Given the description of an element on the screen output the (x, y) to click on. 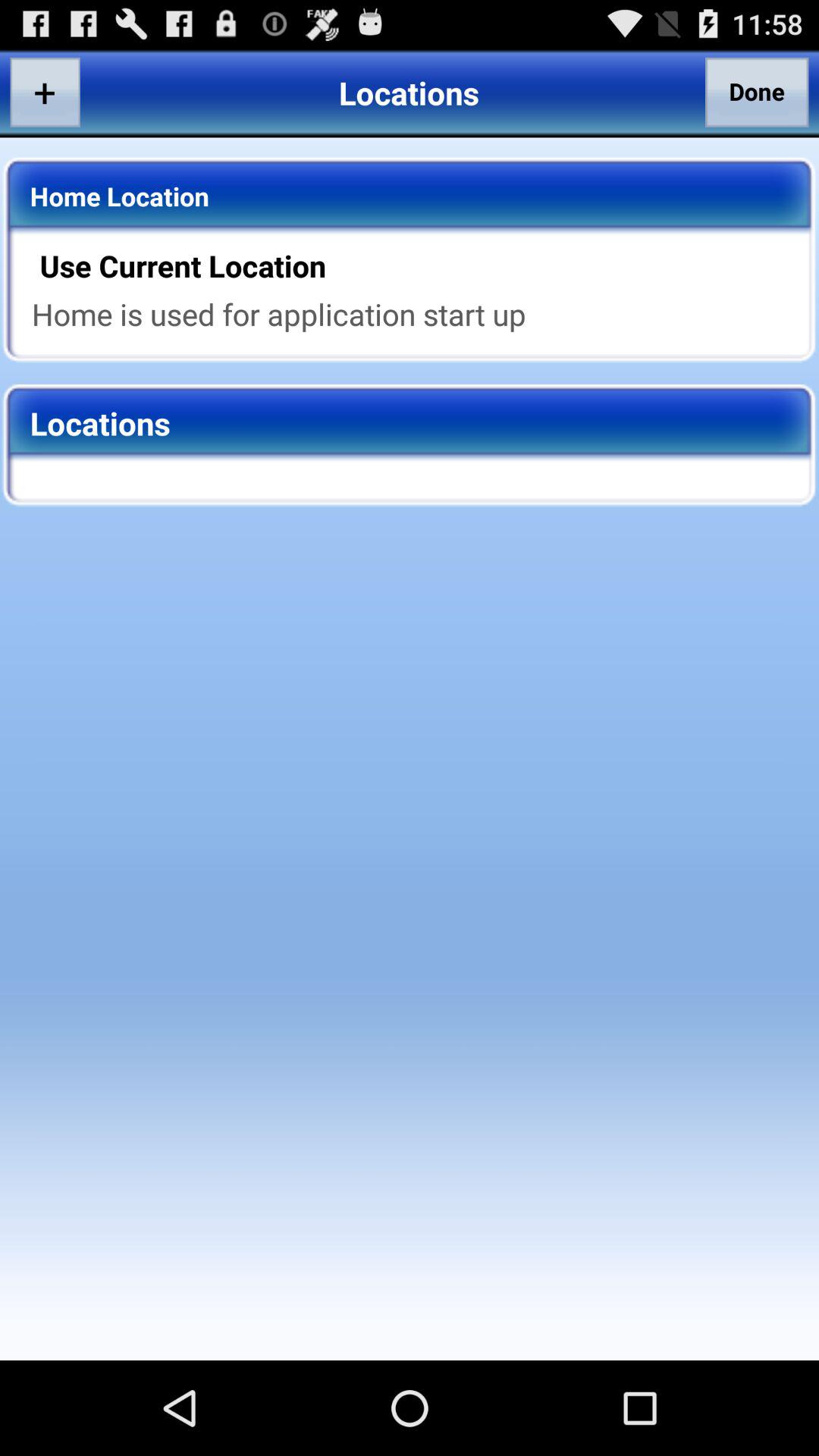
swipe to done icon (756, 92)
